Given the description of an element on the screen output the (x, y) to click on. 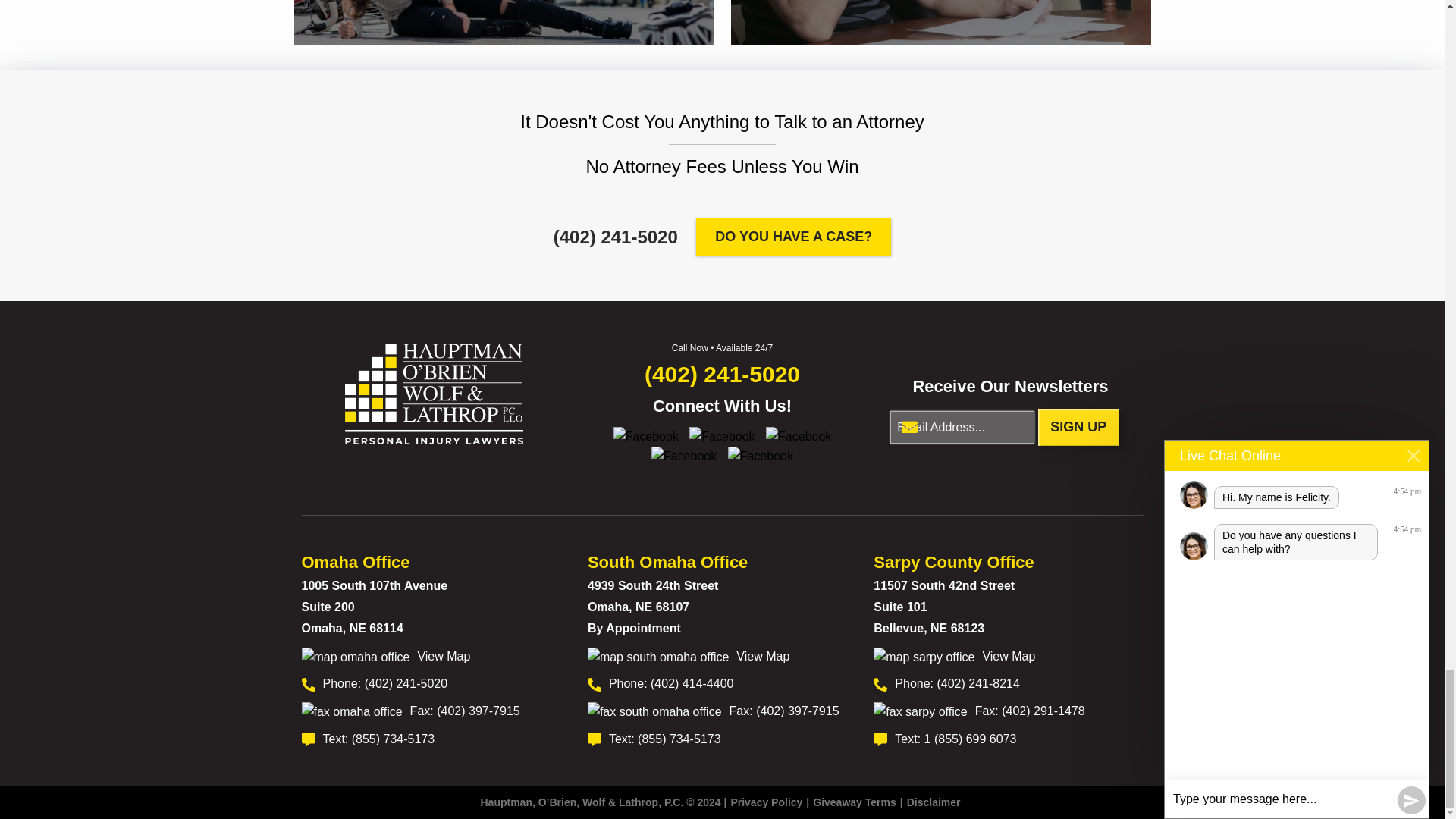
Sign Up (1078, 426)
